Given the description of an element on the screen output the (x, y) to click on. 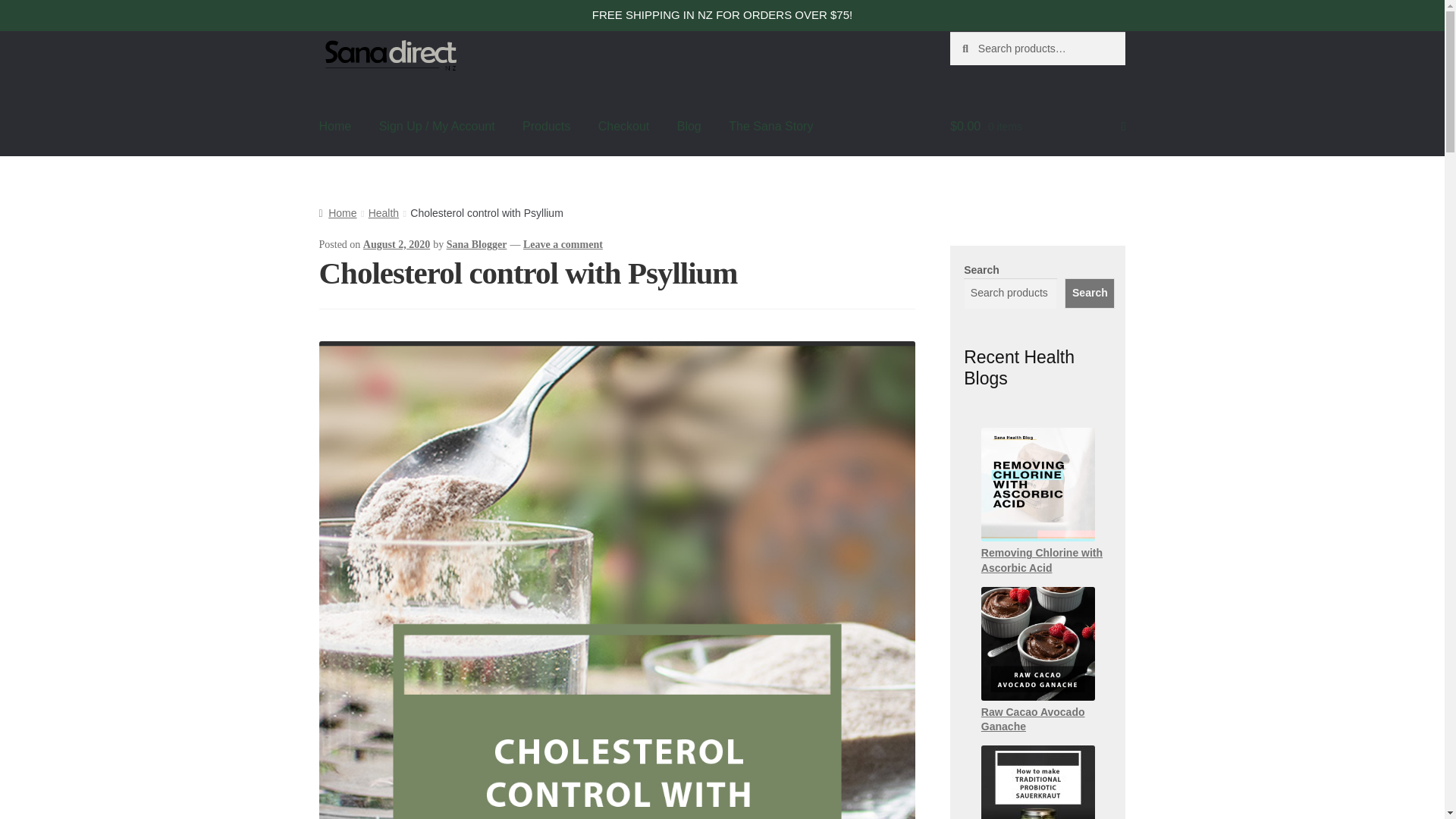
Checkout (624, 126)
Sana Blogger (476, 244)
View your shopping cart (1037, 126)
Blog (689, 126)
The Sana Story (770, 126)
Home (335, 126)
Health (383, 213)
Leave a comment (562, 244)
Products (546, 126)
August 2, 2020 (395, 244)
Home (337, 213)
